Given the description of an element on the screen output the (x, y) to click on. 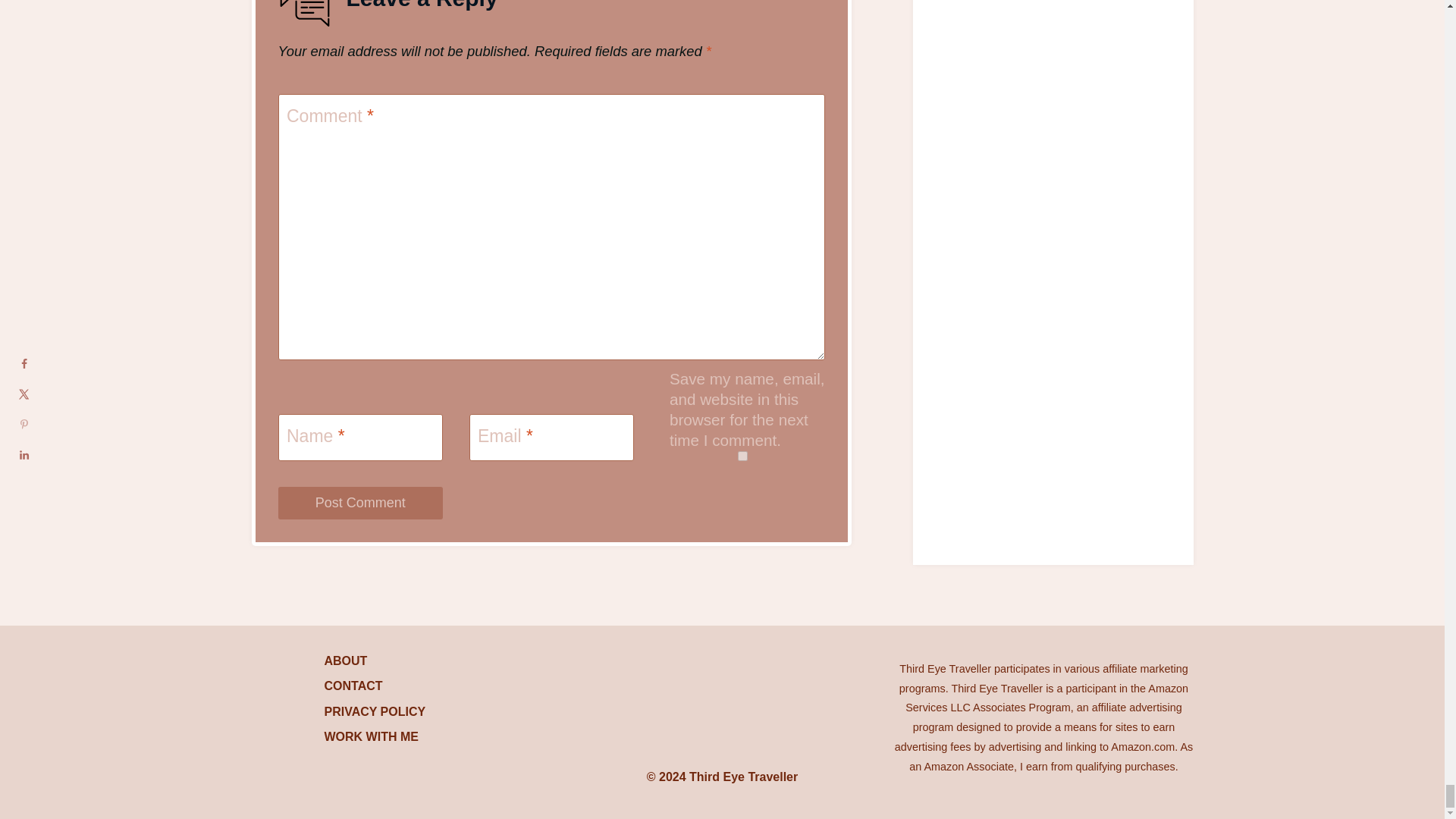
yes (742, 456)
Post Comment (360, 502)
